Given the description of an element on the screen output the (x, y) to click on. 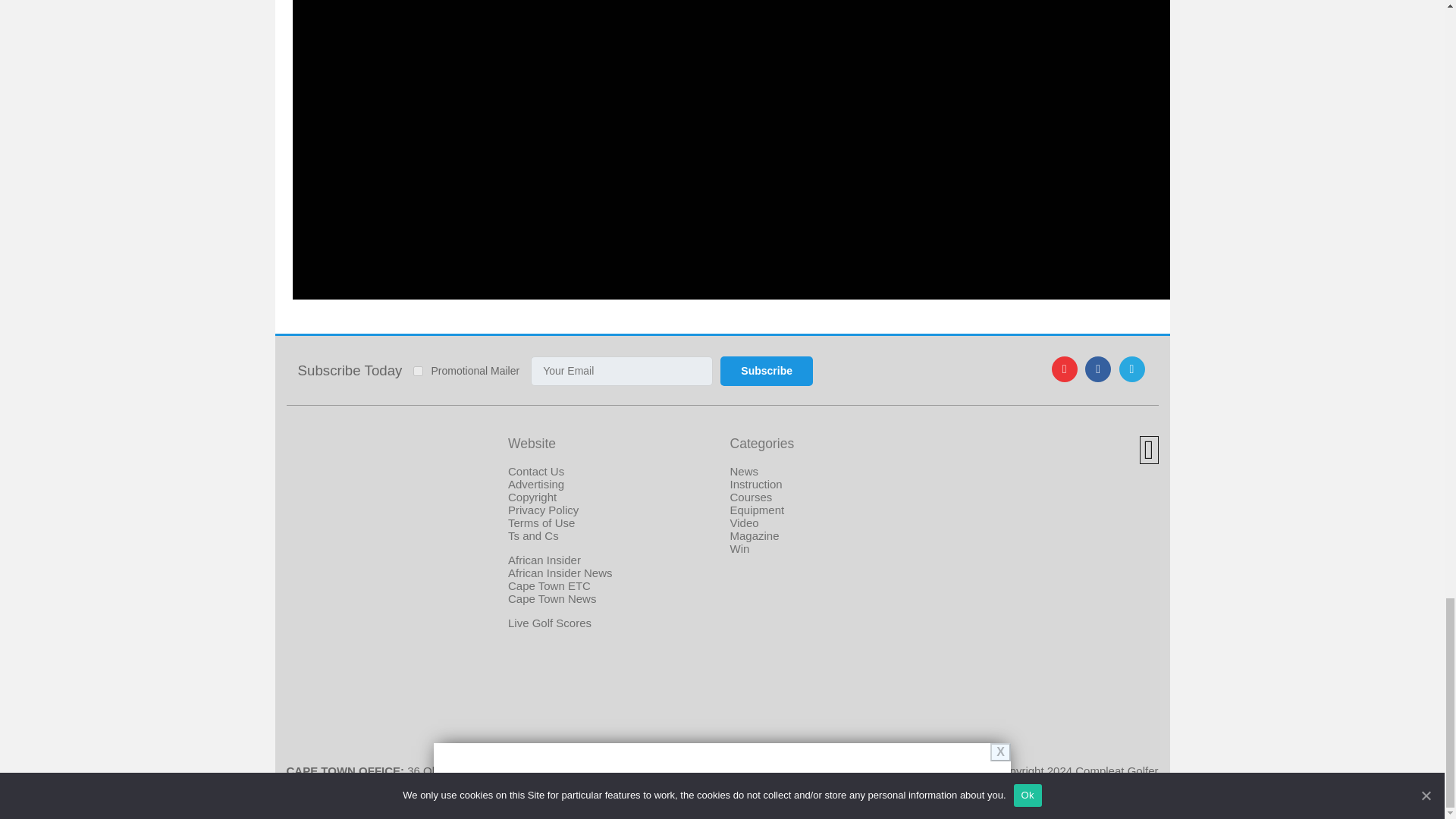
Golf News Websites (346, 717)
Subscribe (766, 370)
african insider (544, 559)
18993 (418, 370)
african news (560, 572)
